Given the description of an element on the screen output the (x, y) to click on. 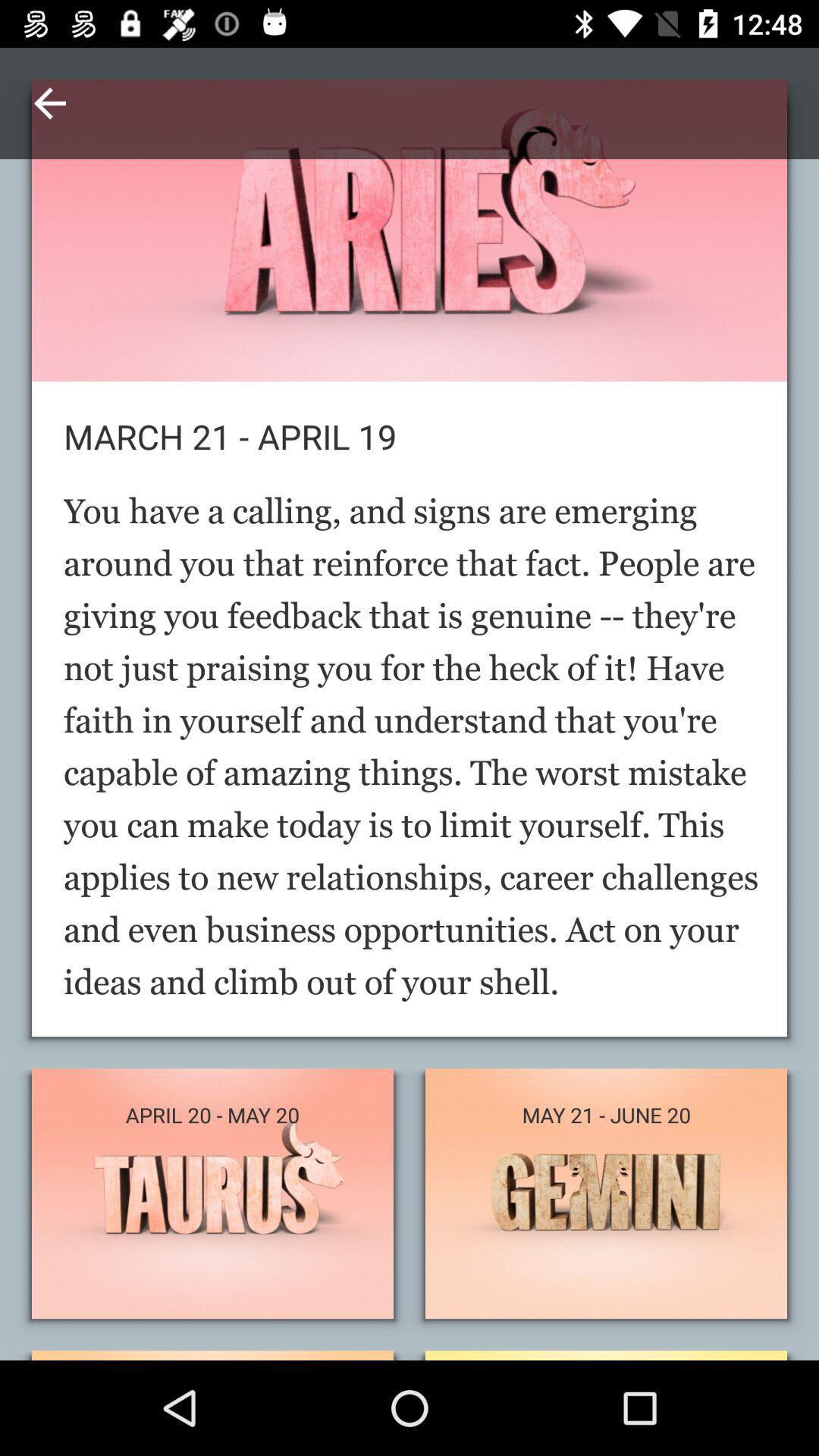
turn on item above march 21 april (49, 103)
